Given the description of an element on the screen output the (x, y) to click on. 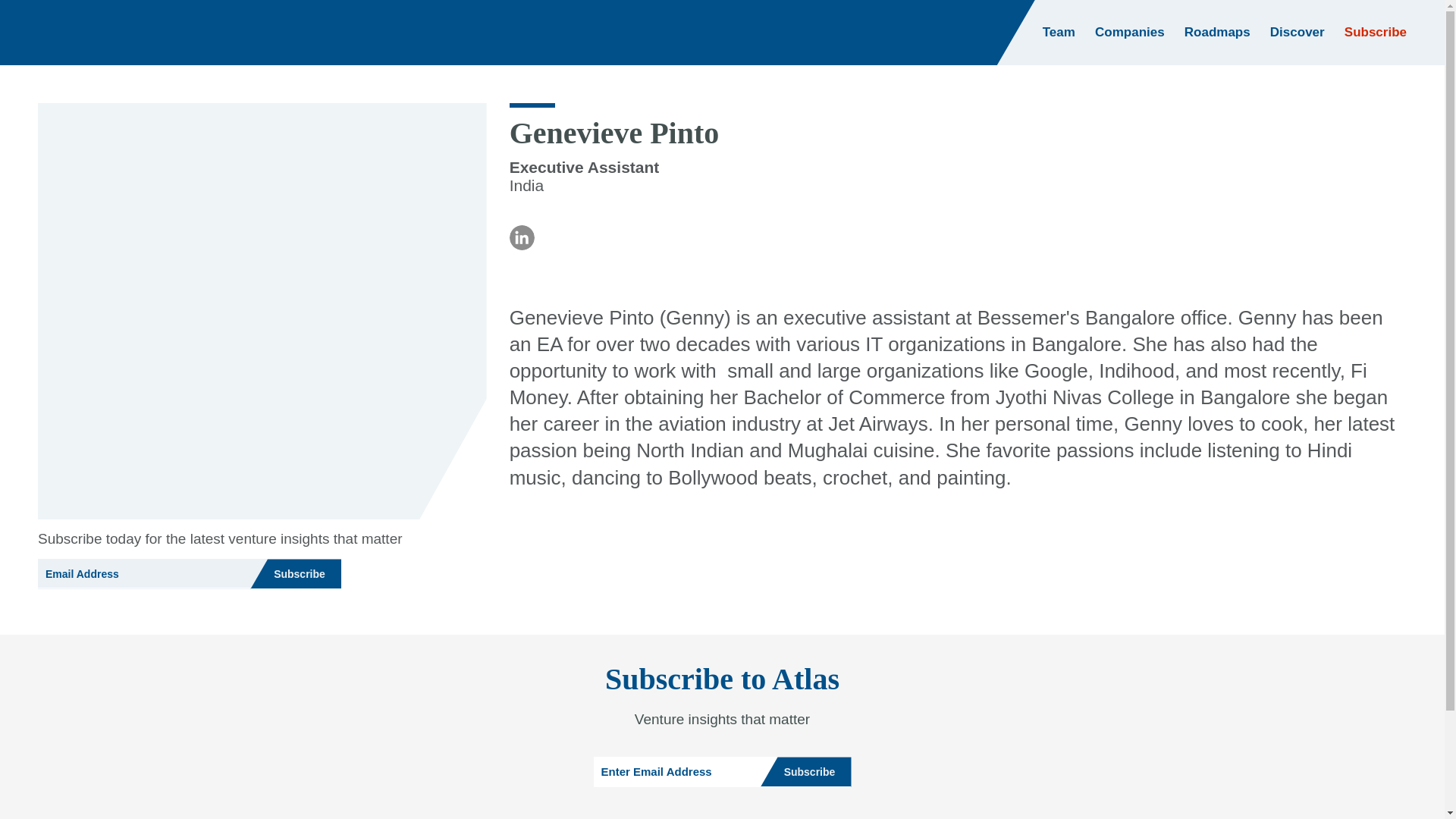
Subscribe (295, 573)
Companies (1129, 32)
Roadmaps (1217, 32)
Subscribe (805, 771)
Team (1058, 32)
